Given the description of an element on the screen output the (x, y) to click on. 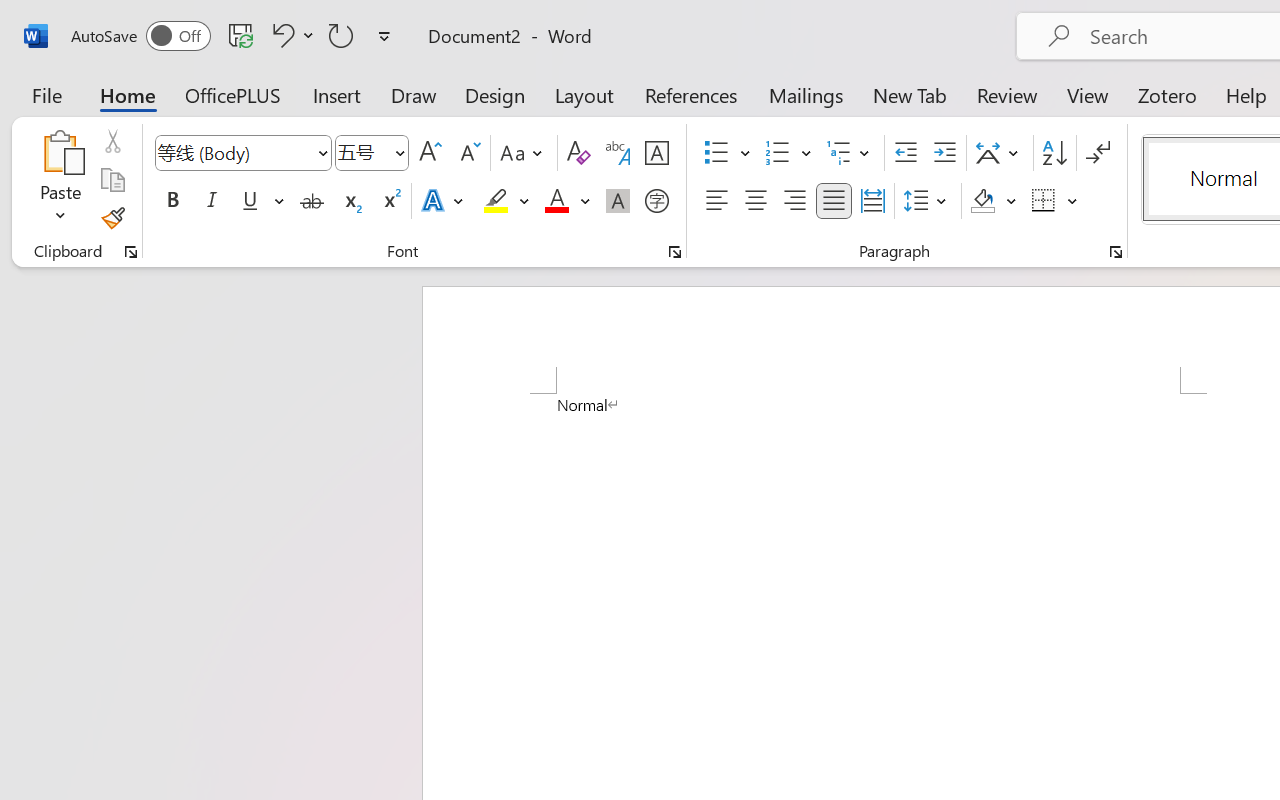
Distributed (872, 201)
Font... (675, 252)
Zotero (1166, 94)
Cut (112, 141)
Increase Indent (944, 153)
Bullets (716, 153)
Enclose Characters... (656, 201)
Numbering (778, 153)
Office Clipboard... (131, 252)
Decrease Indent (906, 153)
Shading (993, 201)
Center (756, 201)
Quick Access Toolbar (233, 36)
Font Color Red (556, 201)
